Given the description of an element on the screen output the (x, y) to click on. 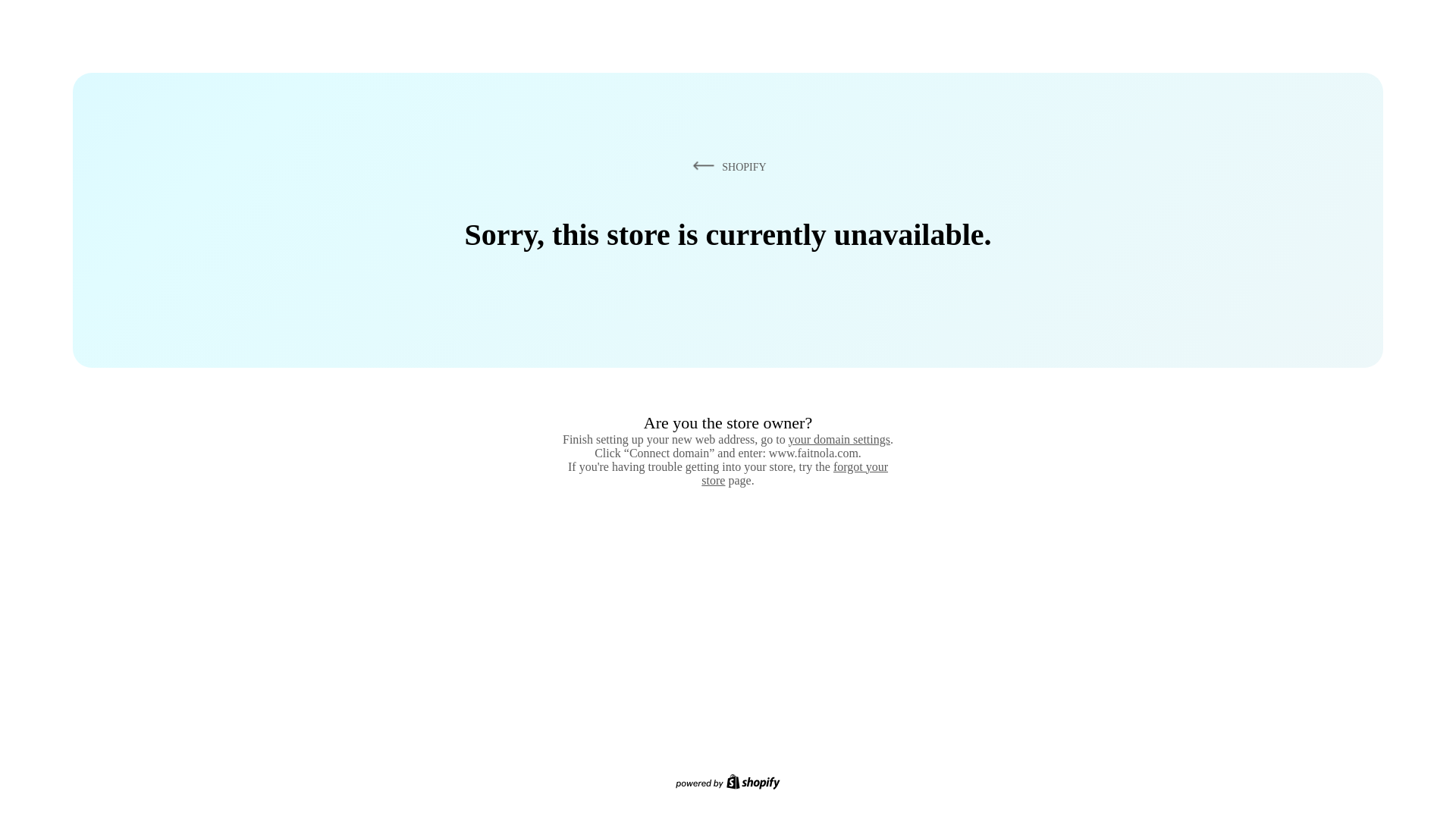
SHOPIFY (726, 166)
your domain settings (839, 439)
forgot your store (794, 473)
